Given the description of an element on the screen output the (x, y) to click on. 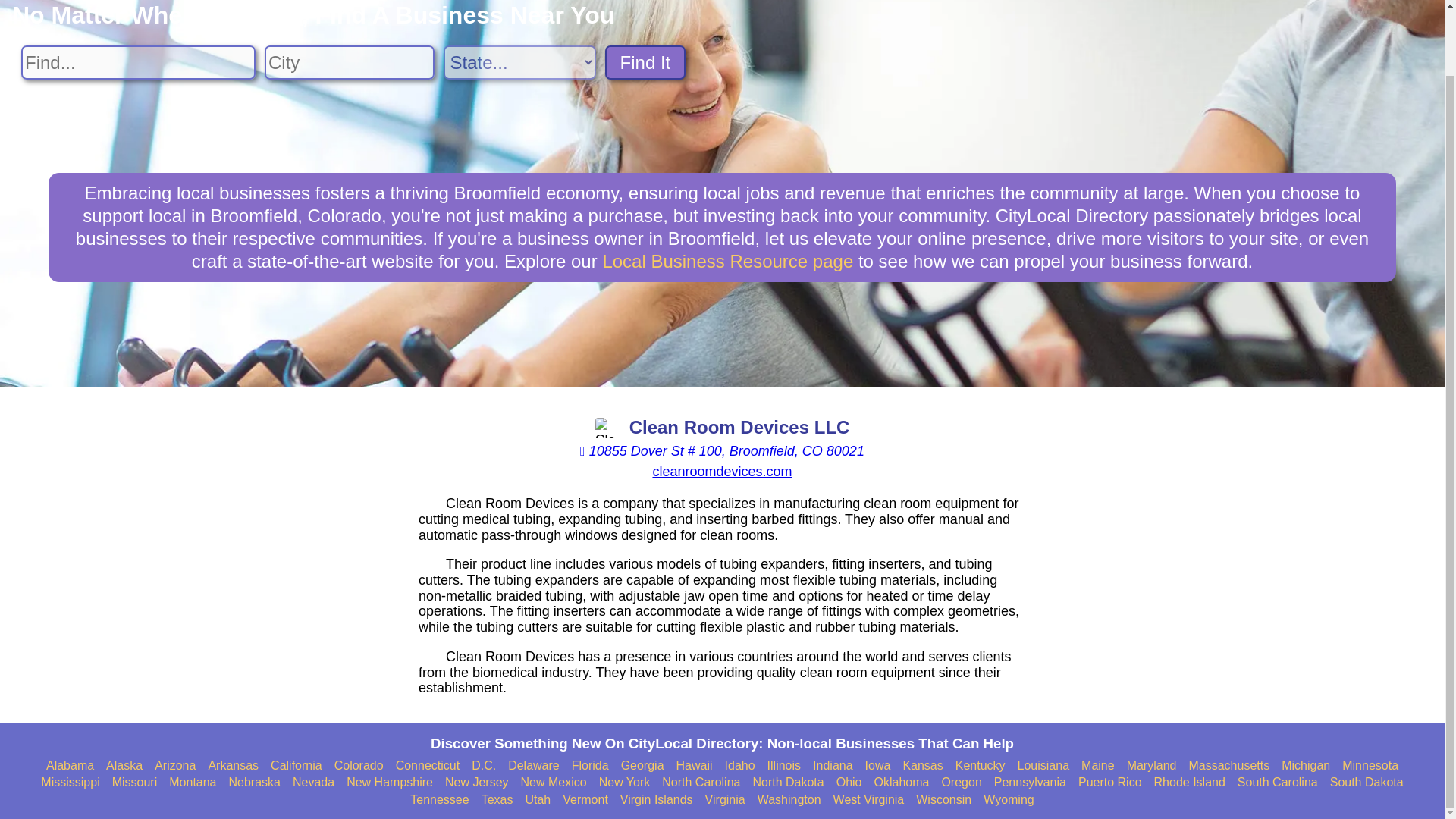
Florida (590, 766)
Nevada (313, 782)
View on Google Maps (721, 451)
New Hampshire (389, 782)
Find Businesses in Arizona (174, 766)
Find Businesses in D.C. (483, 766)
Arizona (174, 766)
Delaware (533, 766)
Massachusetts (1228, 766)
Colorado (359, 766)
